Given the description of an element on the screen output the (x, y) to click on. 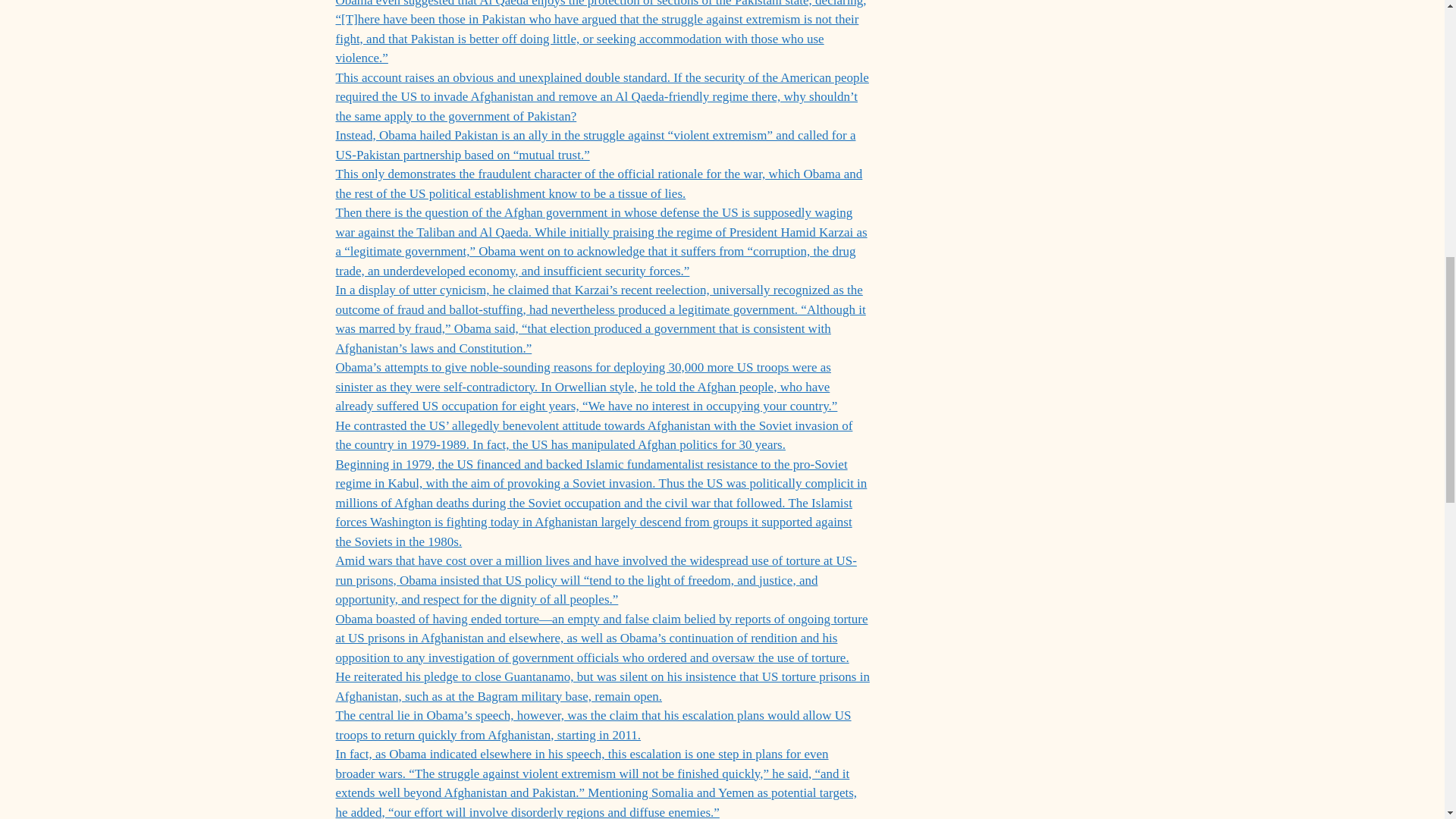
Scroll back to top (1406, 720)
